Given the description of an element on the screen output the (x, y) to click on. 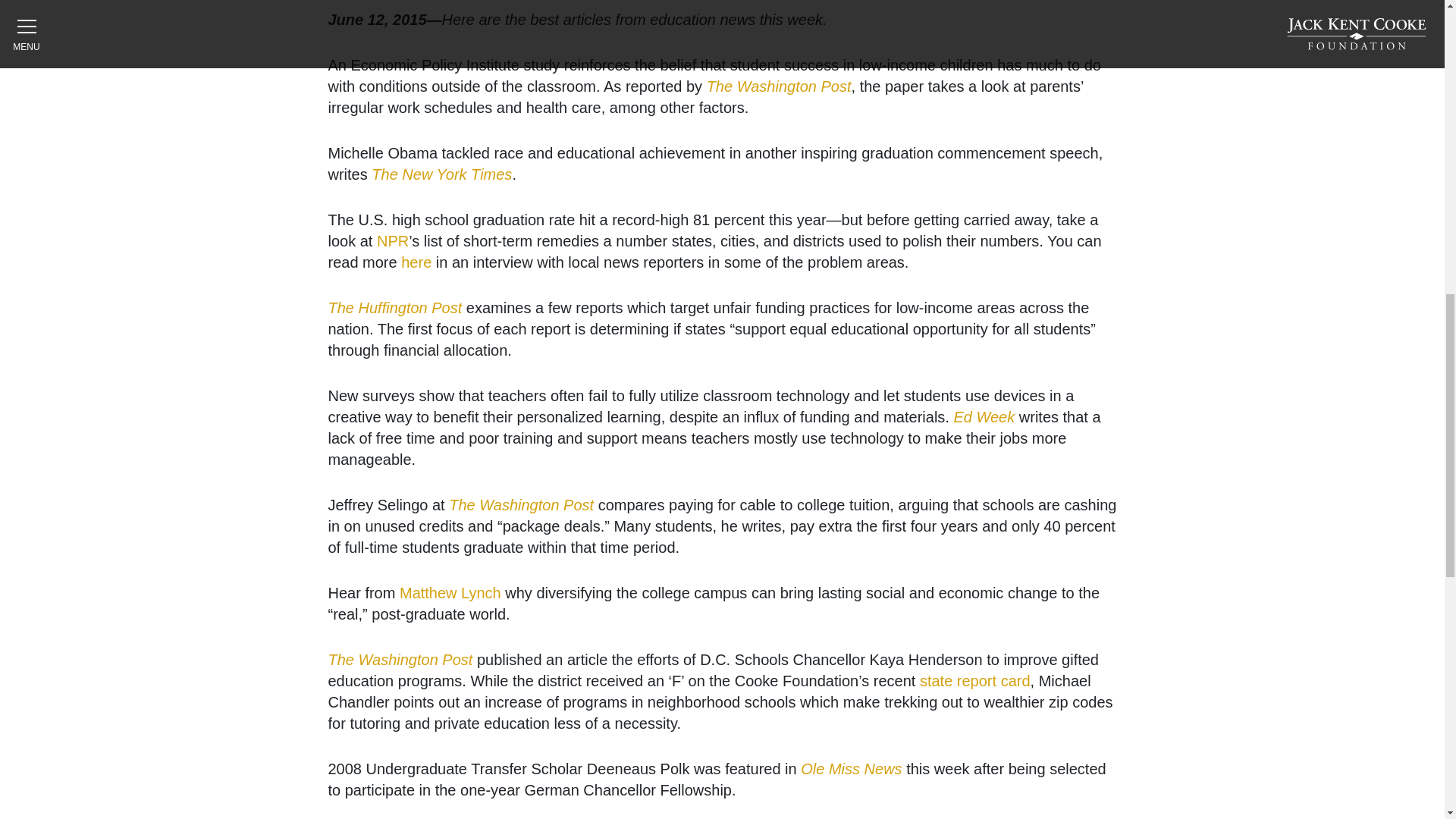
Ed Week (983, 416)
NPR (393, 240)
The Washington Post (778, 86)
The New York Times (441, 174)
here (415, 262)
The Huffington Post (394, 307)
Matthew Lynch (449, 592)
The Washington Post (399, 659)
The Washington Post (521, 504)
